Given the description of an element on the screen output the (x, y) to click on. 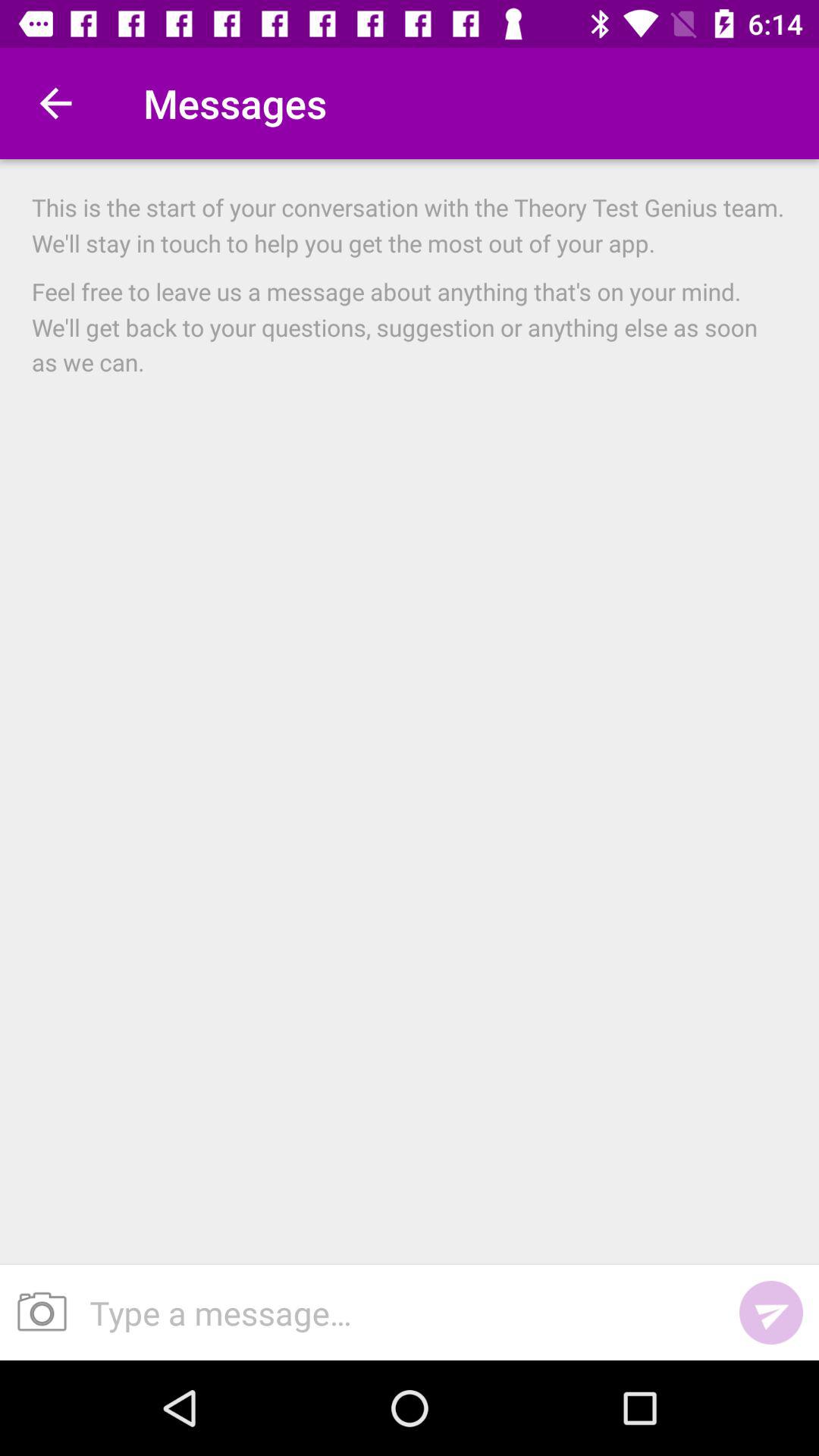
turn off the item below feel free to (771, 1312)
